Given the description of an element on the screen output the (x, y) to click on. 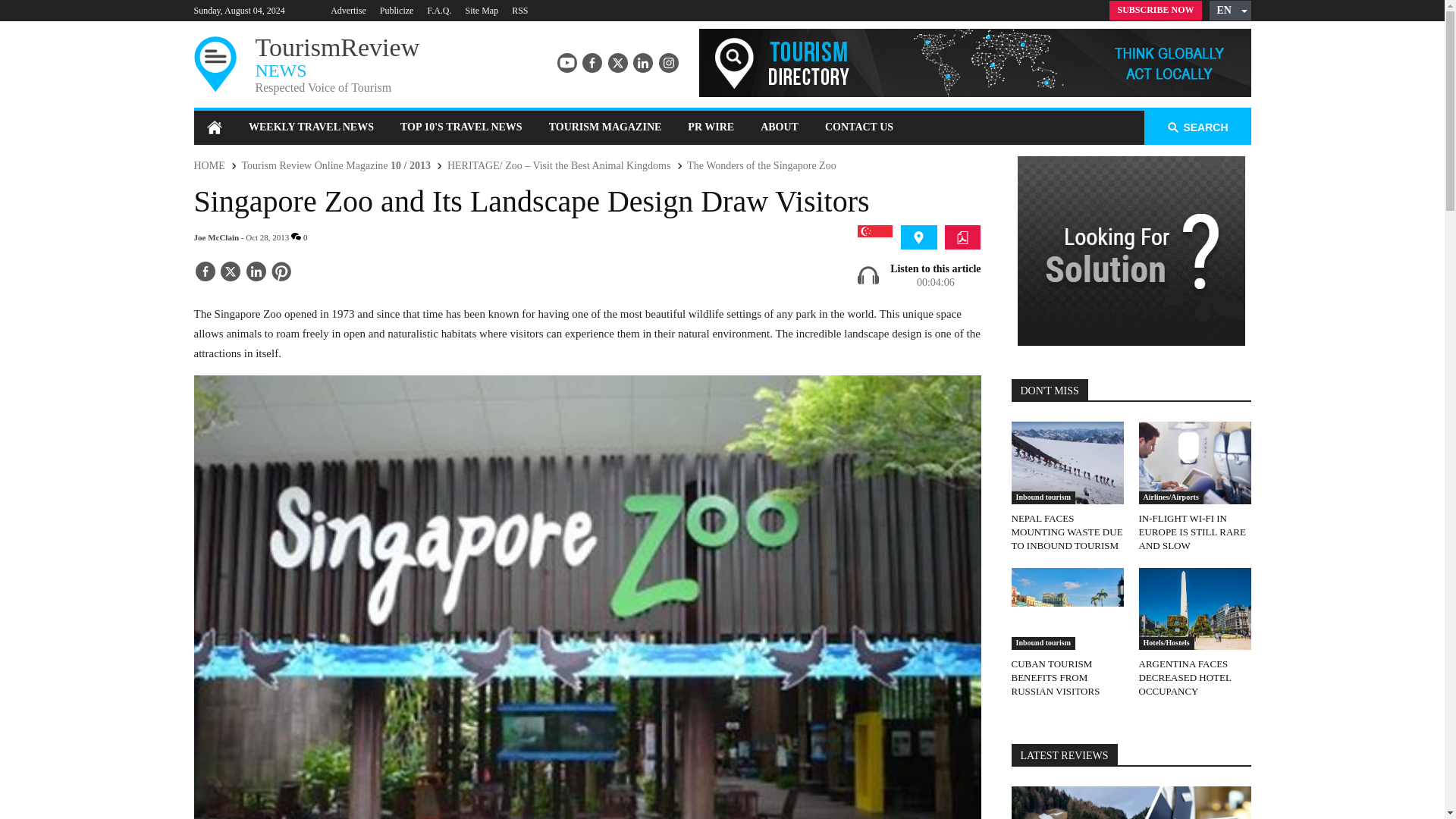
PR WIRE (711, 127)
Publicize (396, 9)
Site Map (480, 9)
WEEKLY TRAVEL NEWS (310, 127)
RSS (519, 9)
The Wonders of the Singapore Zoo (761, 165)
Destination news, destination travel (918, 237)
HOME (274, 65)
Article in pdf (209, 165)
CONTACT US (961, 237)
SUBSCRIBE NOW (857, 127)
F.A.Q. (1155, 10)
Advertise (438, 9)
